Given the description of an element on the screen output the (x, y) to click on. 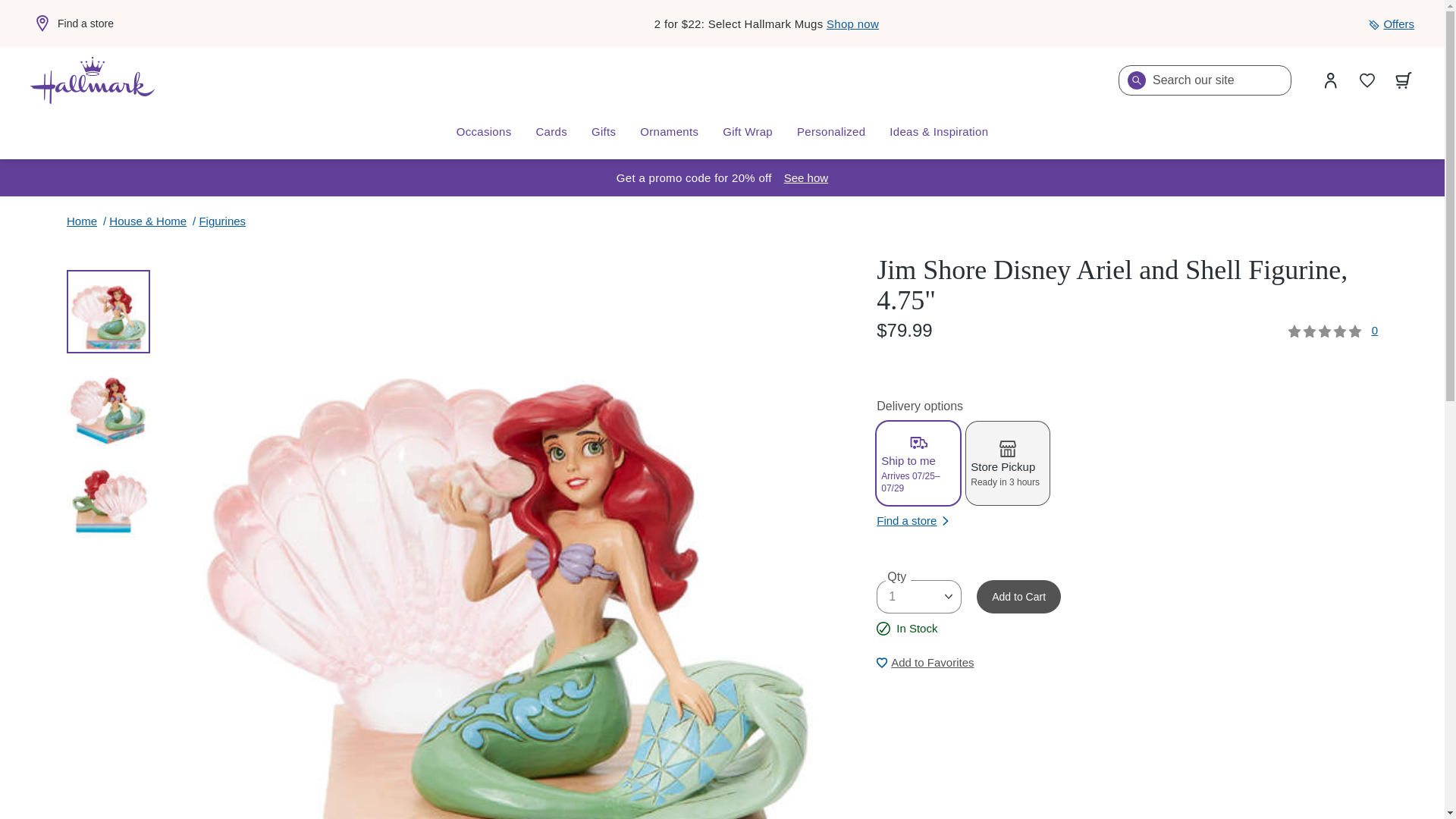
Shop now (853, 22)
Offers (1390, 23)
Home page (92, 80)
Open shipping dates modal (806, 177)
View your cart (1404, 80)
Favorites (1367, 80)
Find a store (71, 23)
Search (1135, 80)
